Given the description of an element on the screen output the (x, y) to click on. 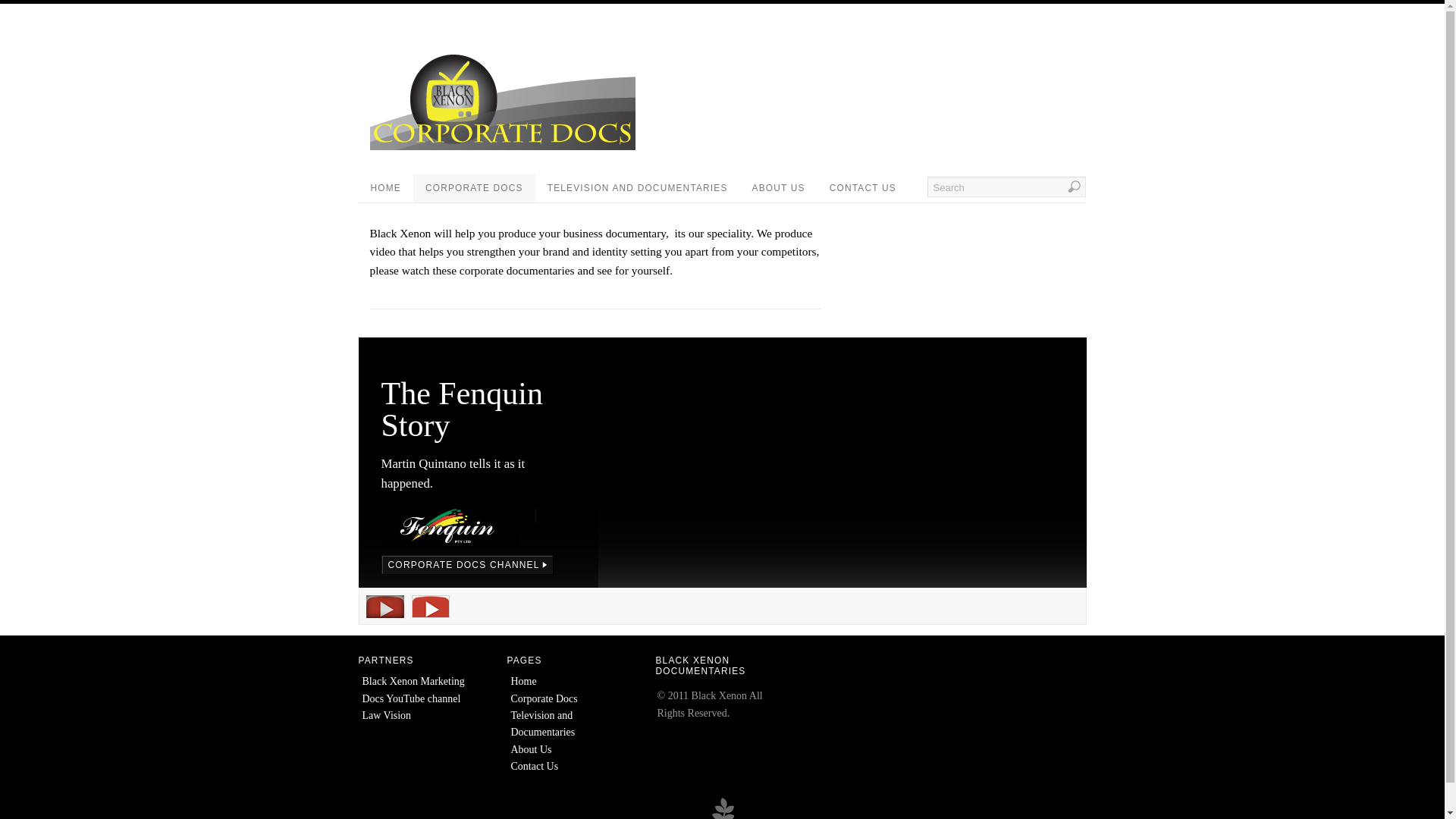
TELEVISION AND DOCUMENTARIES Element type: text (637, 187)
Contact Us Element type: text (534, 765)
Fenquin Australia Logo Element type: hover (448, 526)
Docs YouTube channel Element type: text (411, 698)
CORPORATE DOCS CHANNEL Element type: text (466, 564)
Home Element type: text (523, 681)
ABOUT US Element type: text (778, 187)
Black Xenon Marketing Element type: text (413, 681)
HOME Element type: text (384, 187)
Law Vision Element type: text (386, 715)
CORPORATE DOCS Element type: text (474, 187)
CONTACT US Element type: text (862, 187)
Corporate Documentaries - Black Xenon Element type: hover (502, 146)
Television and Documentaries Element type: text (543, 723)
Corporate Docs Element type: text (544, 698)
About Us Element type: text (531, 749)
